Given the description of an element on the screen output the (x, y) to click on. 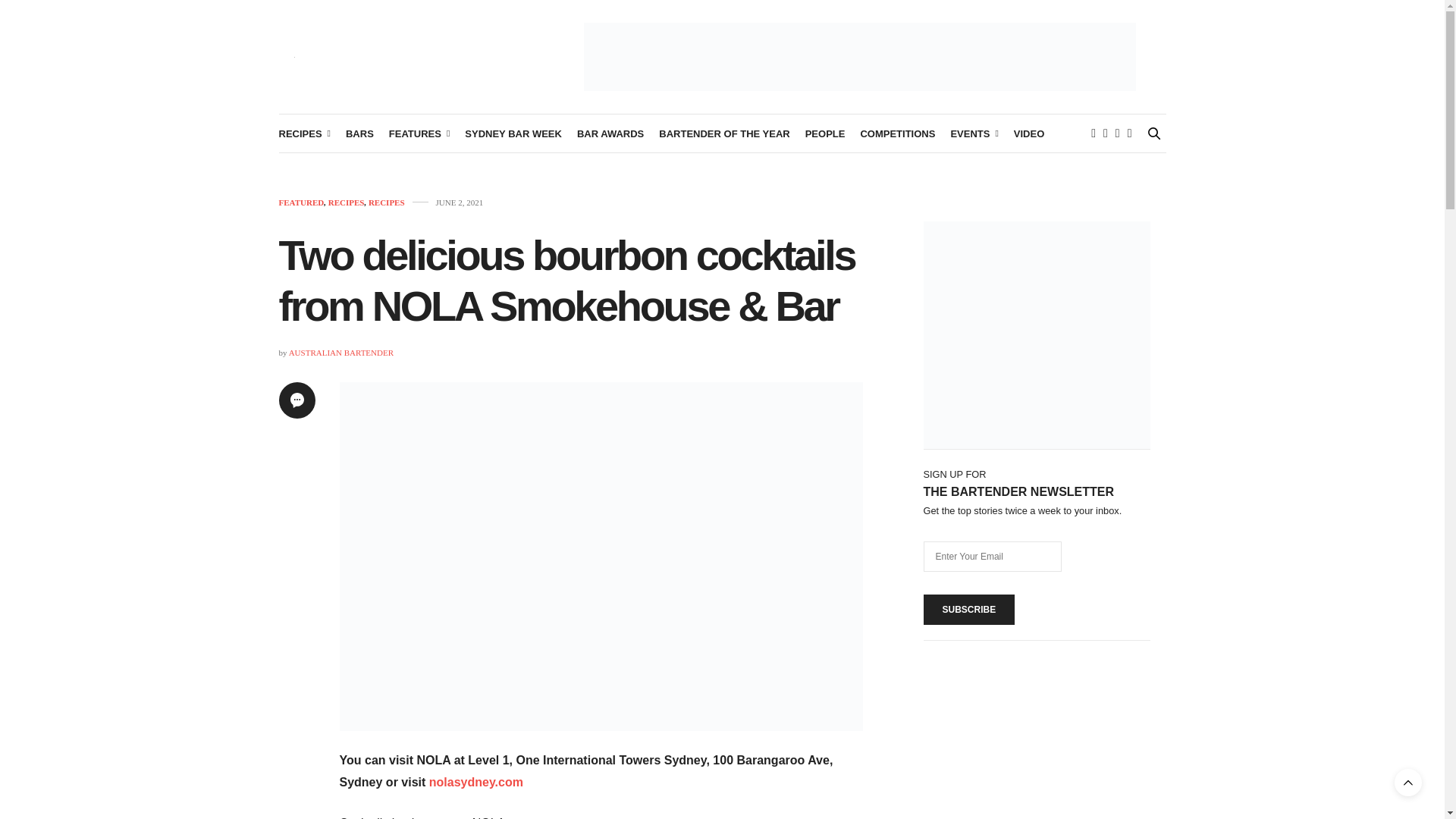
FEATURES (418, 133)
Posts by Australian Bartender (340, 352)
Subscribe (968, 609)
BARS (360, 133)
RECIPES (304, 133)
Scroll To Top (1408, 782)
